Given the description of an element on the screen output the (x, y) to click on. 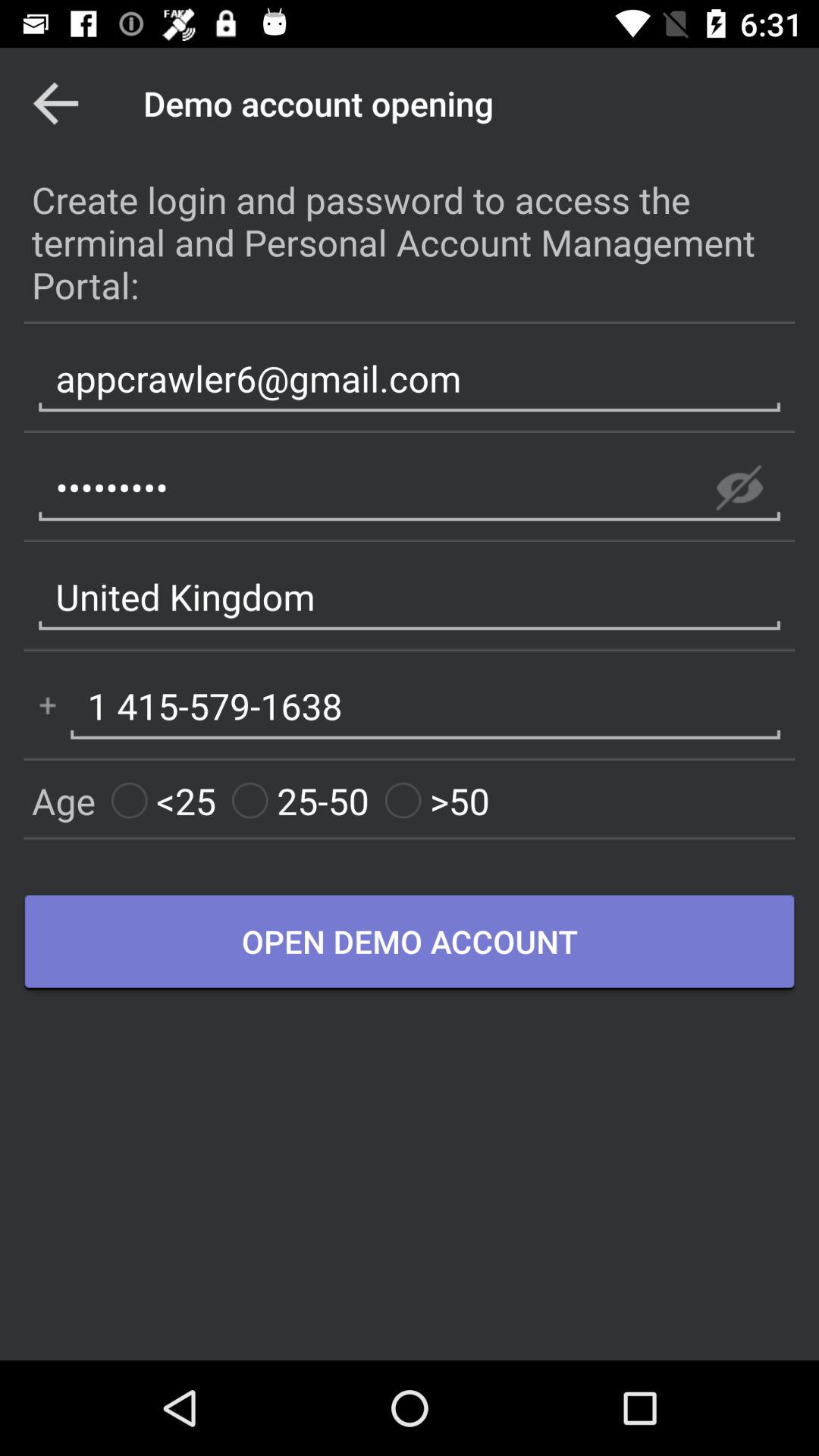
tap the icon on the right (739, 487)
